Given the description of an element on the screen output the (x, y) to click on. 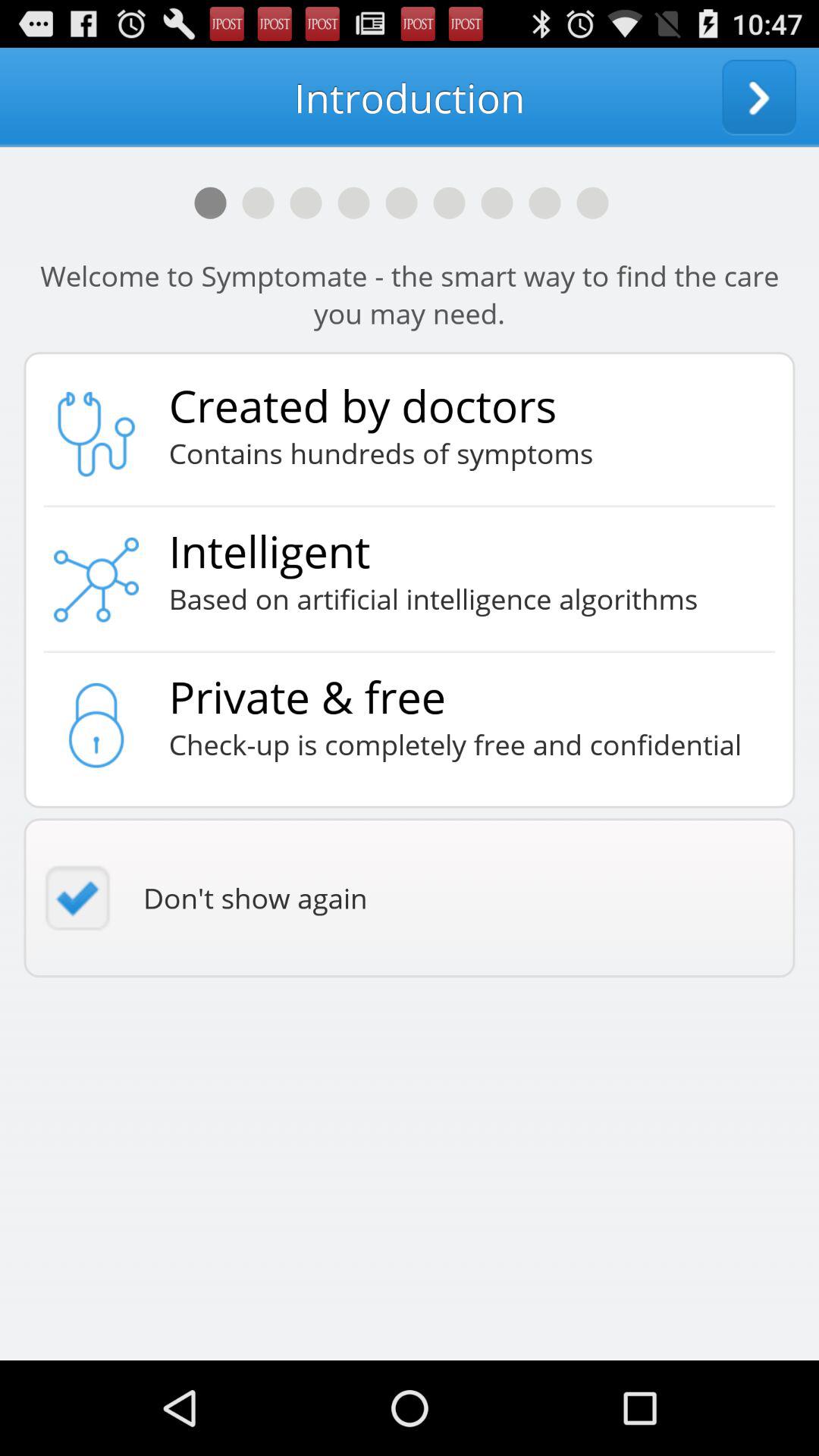
turn off app to the right of introduction (759, 97)
